Given the description of an element on the screen output the (x, y) to click on. 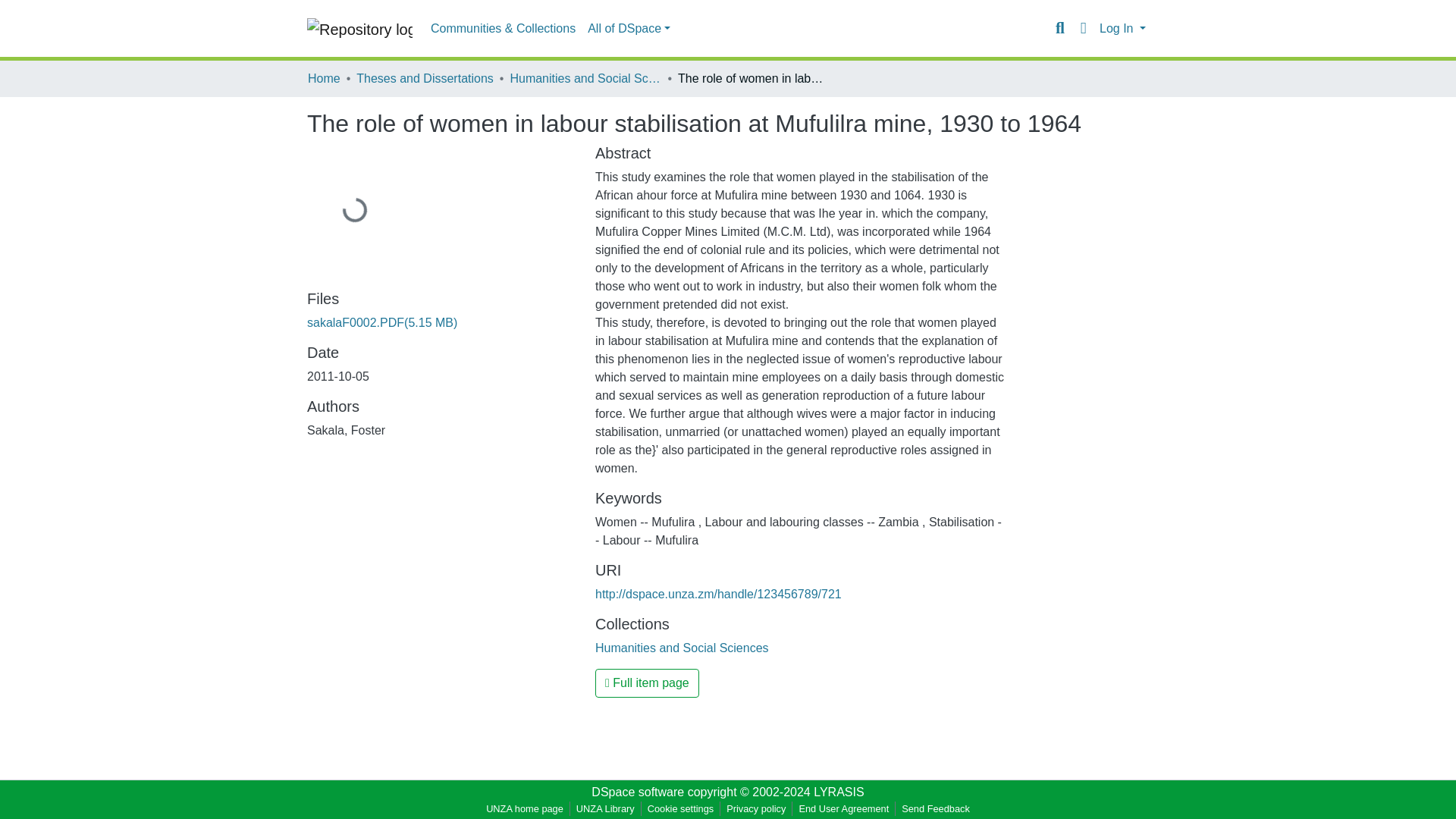
UNZA home page (524, 808)
End User Agreement (843, 808)
Humanities and Social Sciences (681, 647)
Cookie settings (681, 808)
Search (1059, 28)
Full item page (646, 683)
All of DSpace (628, 28)
Send Feedback (935, 808)
Log In (1122, 28)
Language switch (1083, 28)
Privacy policy (756, 808)
UNZA Library (605, 808)
DSpace software (637, 791)
Theses and Dissertations (424, 78)
Home (323, 78)
